Given the description of an element on the screen output the (x, y) to click on. 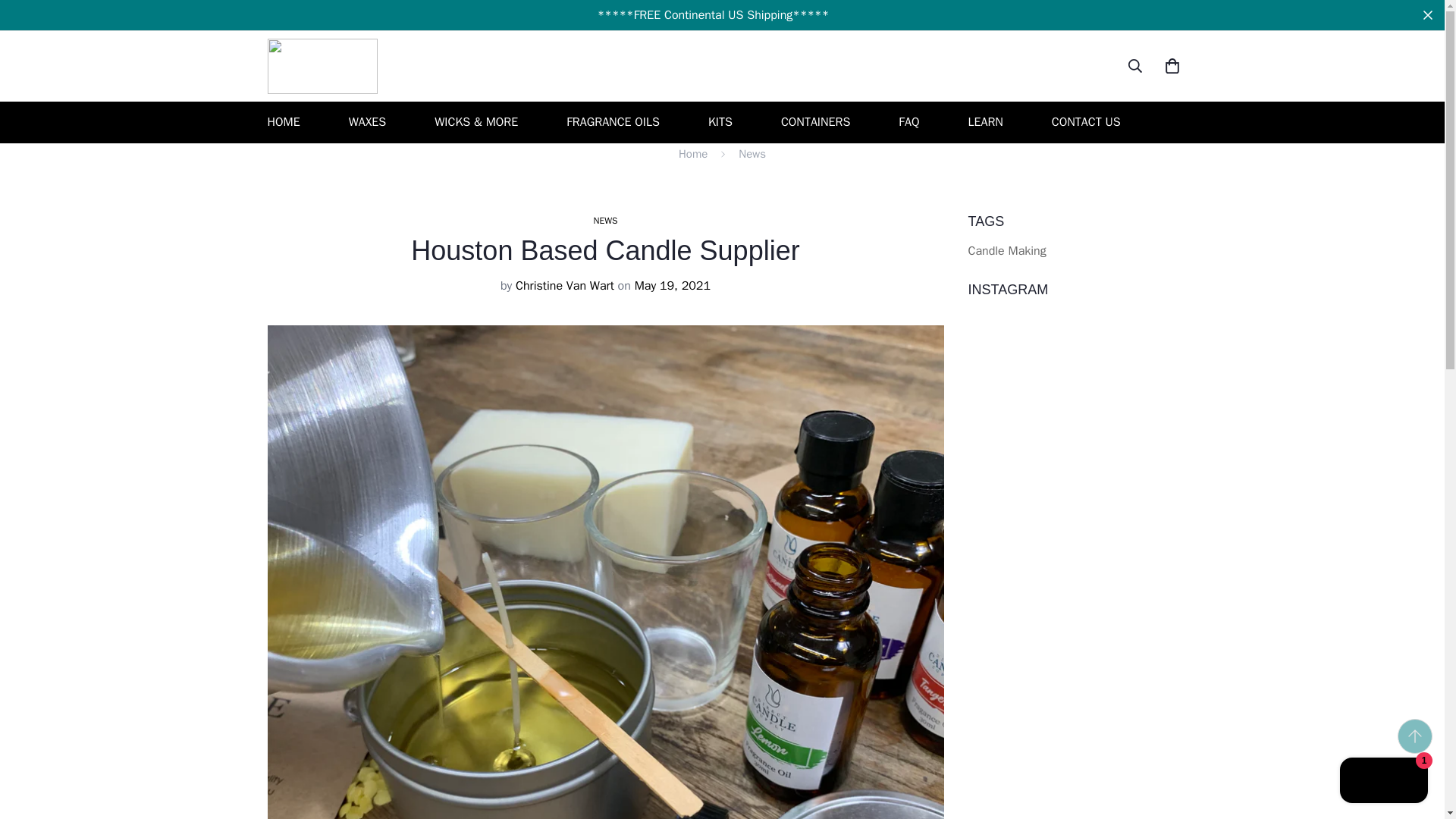
Shopify online store chat (1383, 781)
LEARN (984, 122)
Back to the home page (692, 153)
FRAGRANCE OILS (612, 122)
FAQ (909, 122)
HOME (283, 122)
Show articles tagged candle making (1006, 250)
CONTACT US (1085, 122)
KITS (720, 122)
CONTAINERS (816, 122)
WAXES (367, 122)
